Given the description of an element on the screen output the (x, y) to click on. 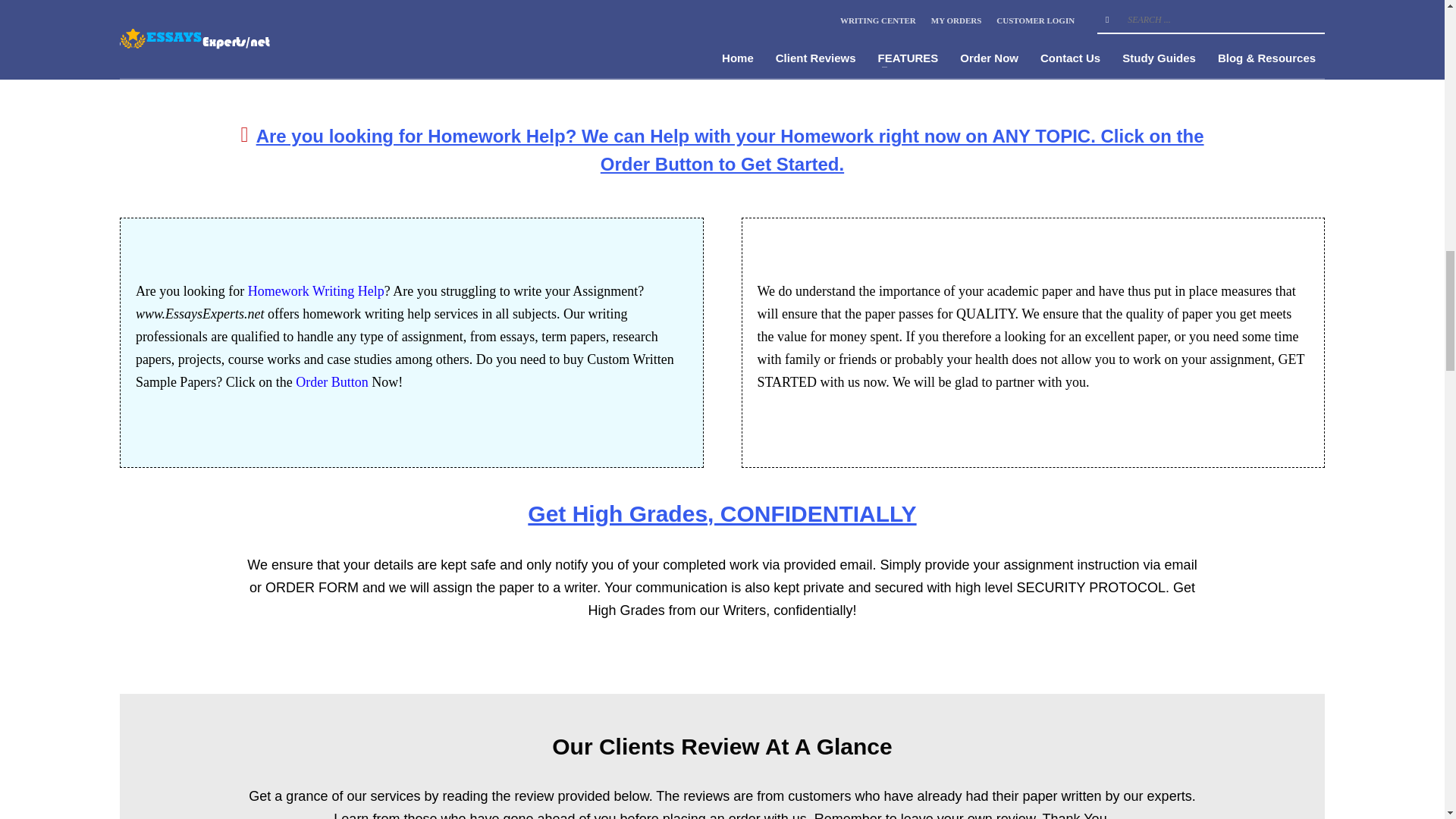
ACADEMIC WRITING HELP (1140, 58)
Homework Writing Help (315, 290)
Order Button (331, 381)
